Given the description of an element on the screen output the (x, y) to click on. 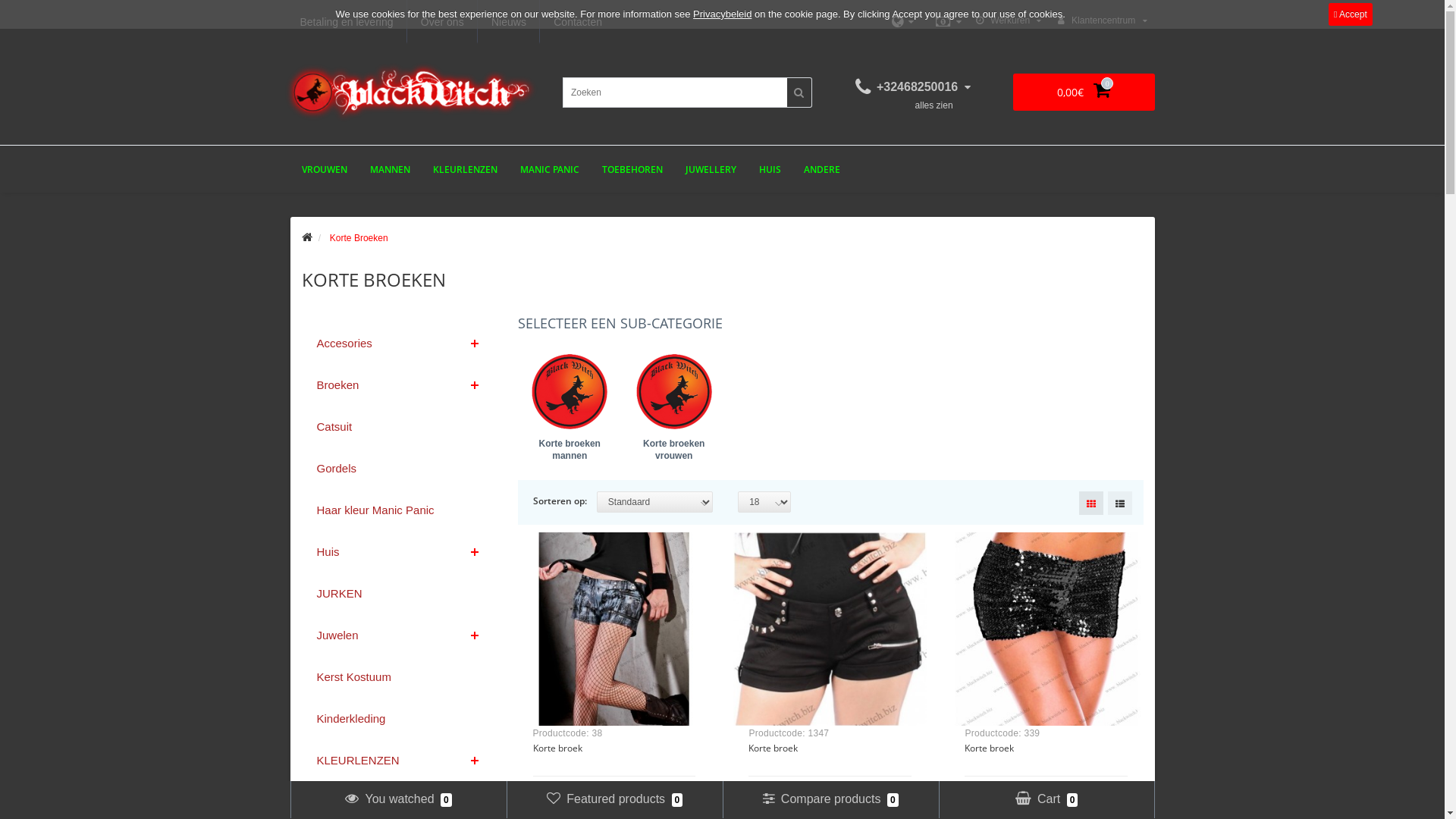
Huis Element type: text (398, 551)
Werkuren Element type: text (1008, 20)
KLEURLENZEN Element type: text (398, 760)
Haar kleur Manic Panic Element type: text (398, 509)
You watched 0 Element type: text (397, 799)
MANIC PANIC Element type: text (548, 169)
Korte broek Element type: text (772, 747)
Hoofd Element type: hover (306, 237)
Korte broeken mannen Element type: text (568, 413)
KLEURLENZEN Element type: text (464, 169)
Compare products 0 Element type: text (830, 799)
Juwelen Element type: text (398, 634)
Korte broek Element type: text (988, 747)
Accesories Element type: text (398, 340)
Kinderkleding Element type: text (398, 718)
Korte broeken vrouwen Element type: text (673, 413)
Broeken Element type: text (398, 384)
TOEBEHOREN Element type: text (631, 169)
MANNEN Element type: text (388, 169)
Gothic shop Antwerpen, Alternative kleding Element type: hover (410, 92)
HUIS Element type: text (769, 169)
JURKEN Element type: text (398, 593)
Over ons Element type: text (441, 21)
Privacybeleid Element type: text (722, 13)
Cart 0 Element type: text (1046, 799)
Kerst Kostuum Element type: text (398, 676)
+32468250016 Element type: text (912, 86)
Contacten Element type: text (577, 21)
Featured products 0 Element type: text (614, 799)
Korte broek Element type: text (556, 747)
Gordels Element type: text (398, 468)
Nieuws Element type: text (507, 21)
JUWELLERY Element type: text (709, 169)
Catsuit Element type: text (398, 426)
Betaling en levering Element type: text (346, 21)
VROUWEN Element type: text (323, 169)
Klantencentrum Element type: text (1102, 20)
ANDERE Element type: text (820, 169)
